Given the description of an element on the screen output the (x, y) to click on. 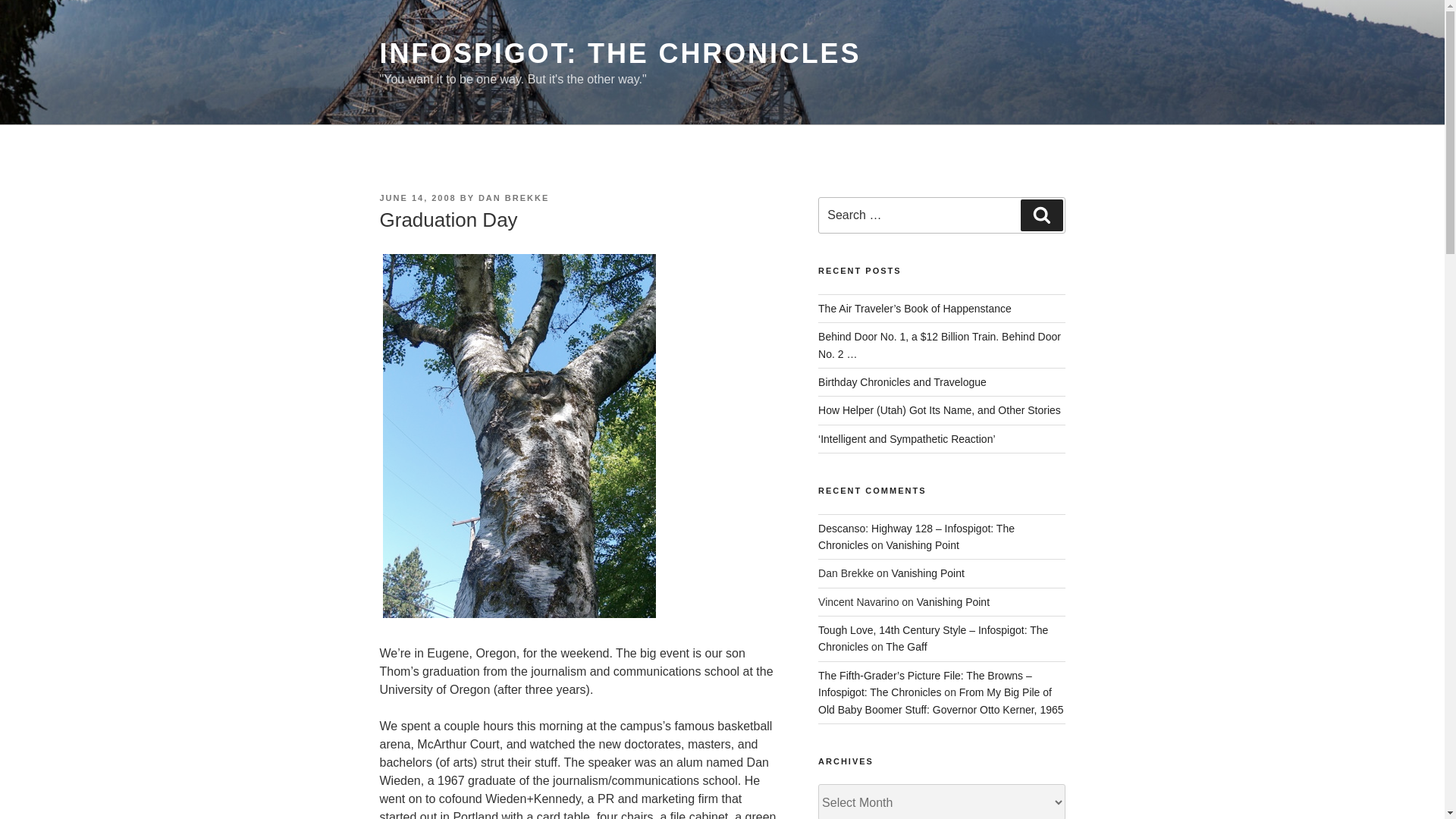
Vanishing Point (922, 544)
Search (1041, 214)
Vanishing Point (953, 602)
Birthday Chronicles and Travelogue (902, 381)
The Gaff (905, 646)
JUNE 14, 2008 (416, 197)
DAN BREKKE (513, 197)
INFOSPIGOT: THE CHRONICLES (619, 52)
Vanishing Point (927, 573)
